Given the description of an element on the screen output the (x, y) to click on. 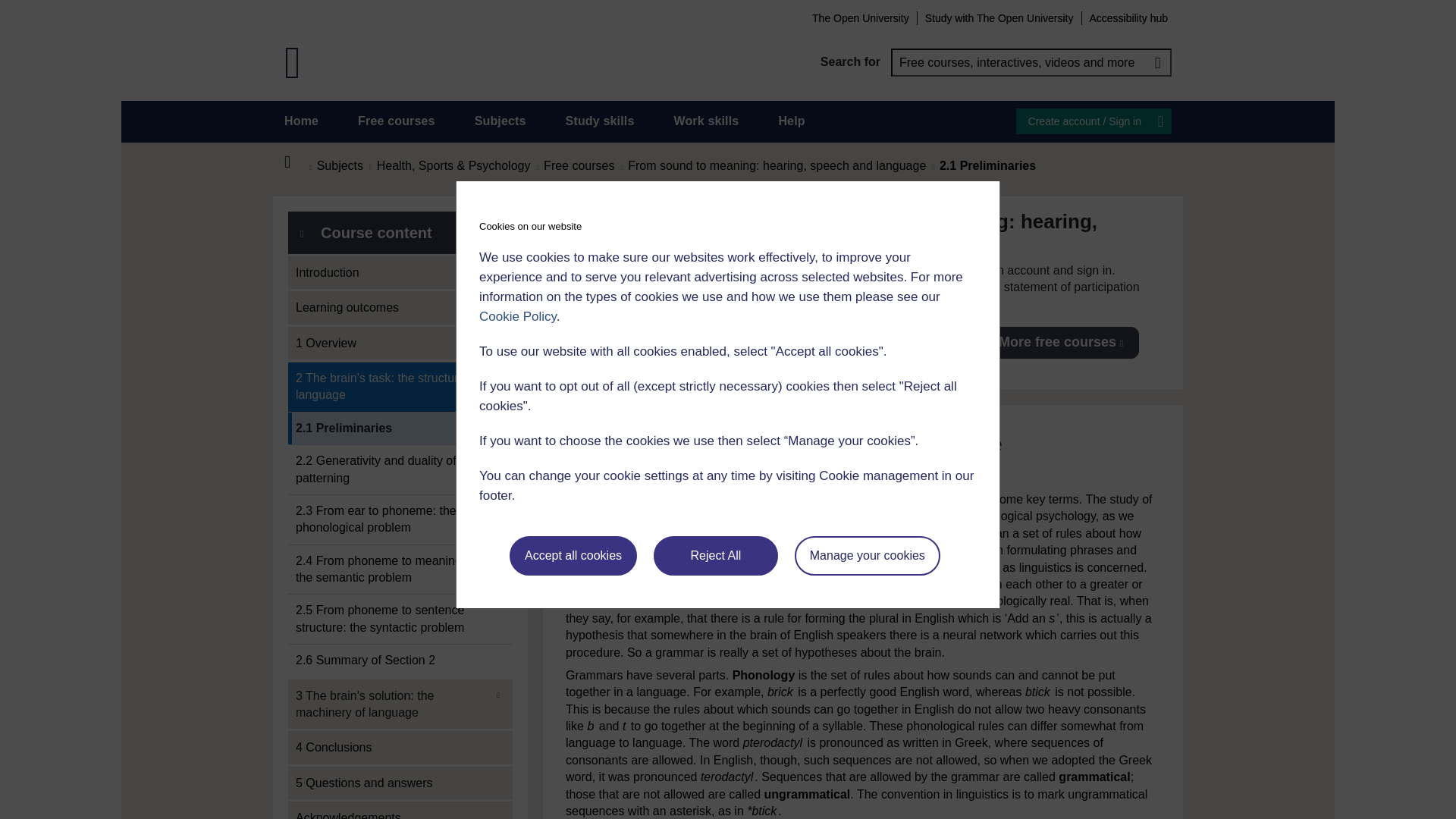
Study with The Open University (999, 17)
Home (300, 120)
Home (295, 162)
Work skills (705, 120)
Search (1157, 62)
Manage your cookies (867, 555)
Accessibility hub (1129, 17)
Study skills (600, 120)
OpenLearn (292, 62)
Help (791, 120)
Free courses (396, 120)
Cookie Policy (517, 316)
Accept all cookies (573, 555)
Subjects (499, 120)
The Open University (860, 17)
